Given the description of an element on the screen output the (x, y) to click on. 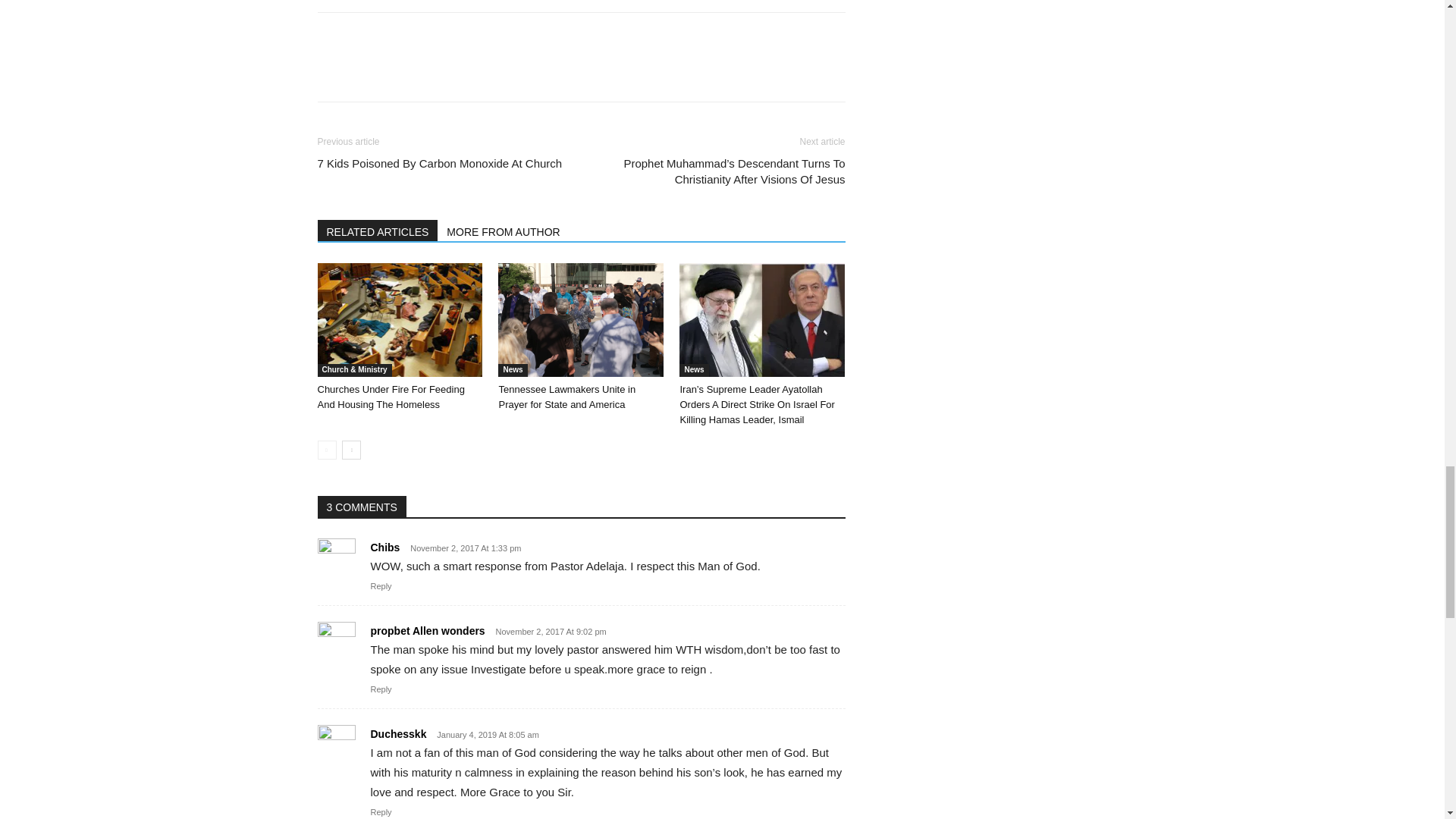
bottomFacebookLike (430, 36)
